Given the description of an element on the screen output the (x, y) to click on. 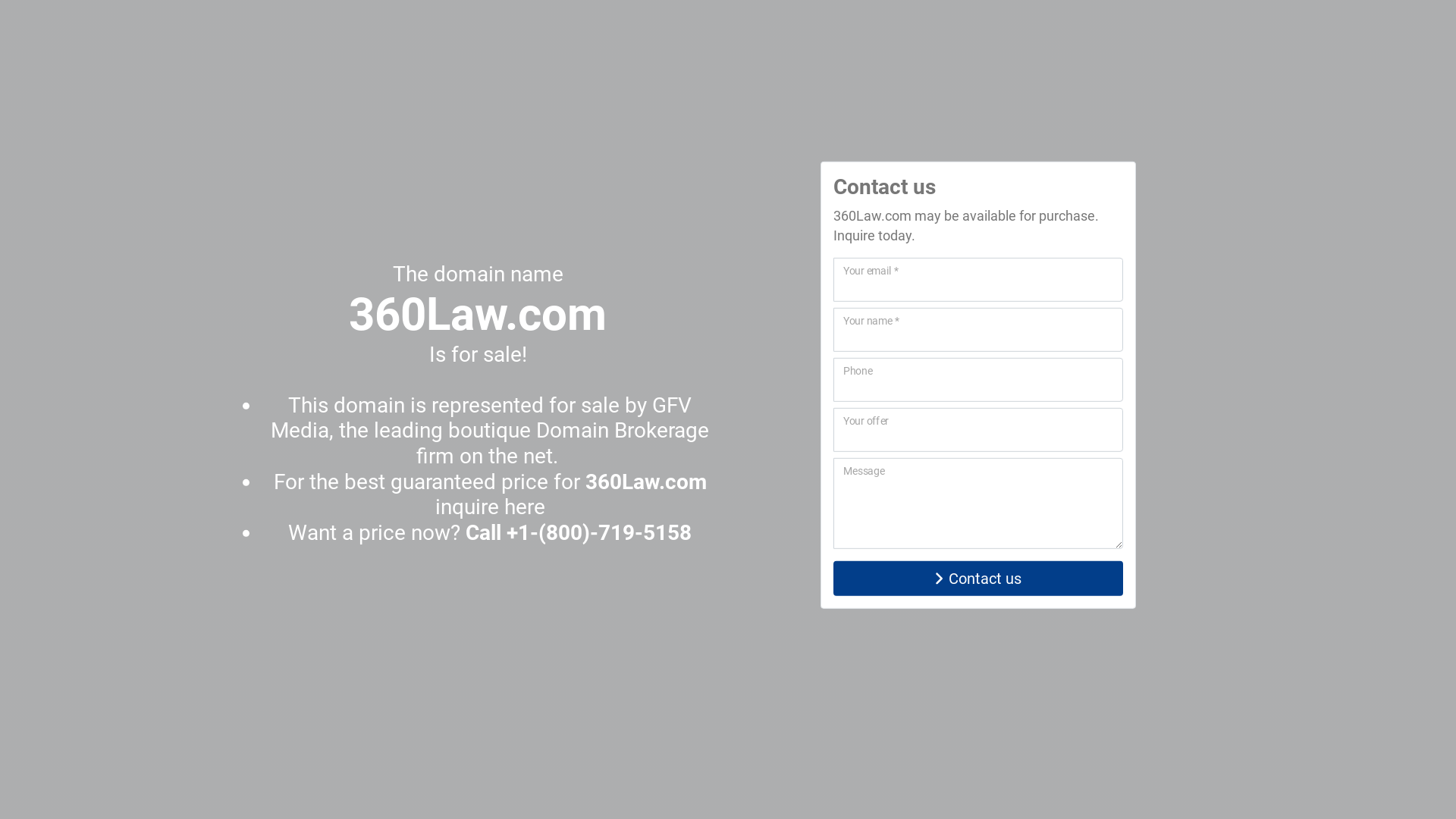
Contact us Element type: text (978, 578)
